Given the description of an element on the screen output the (x, y) to click on. 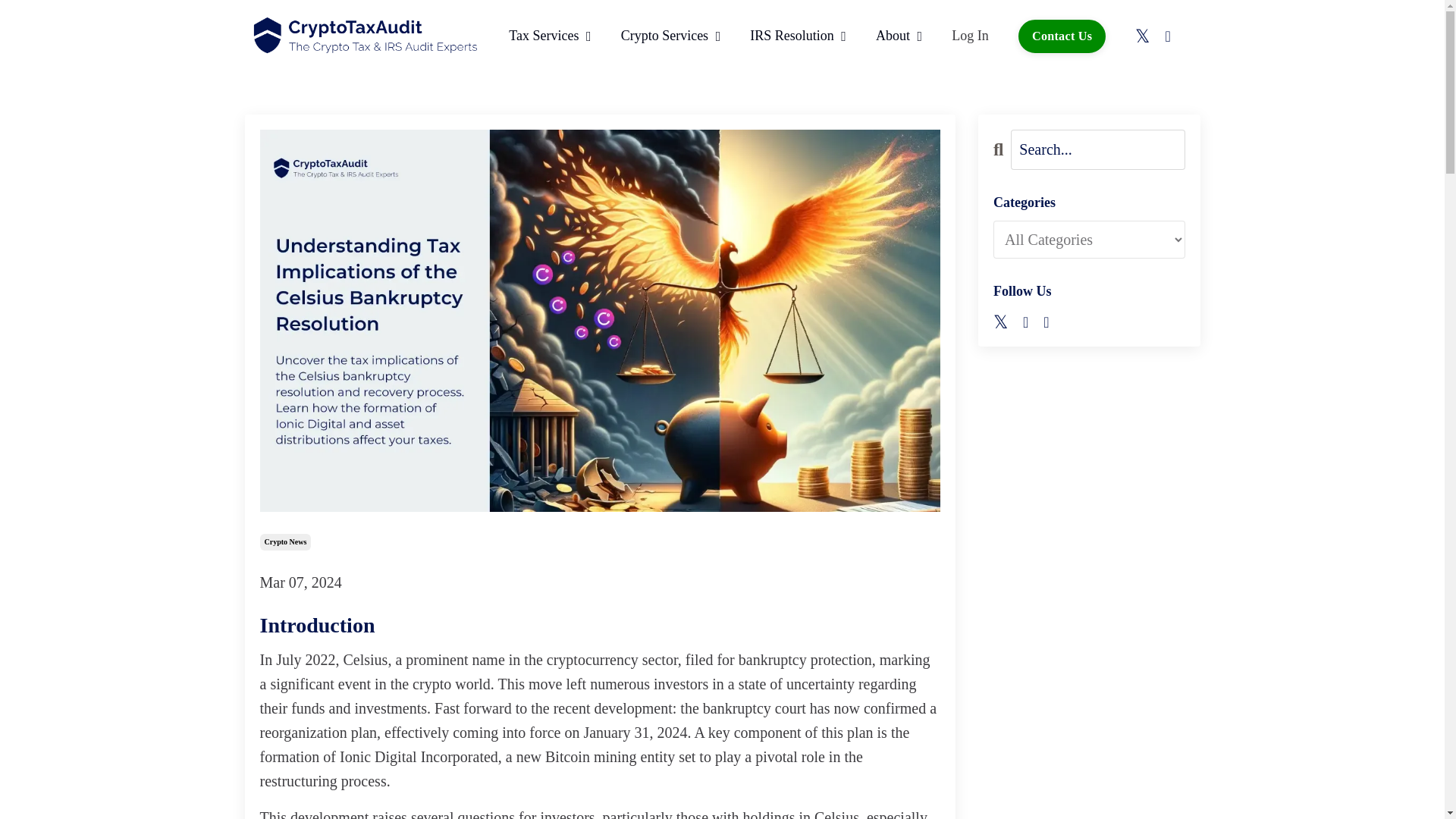
Crypto Services (670, 35)
IRS Resolution (797, 35)
Contact Us (1061, 36)
Crypto News (285, 541)
About (898, 35)
Log In (970, 35)
Tax Services (549, 35)
